Given the description of an element on the screen output the (x, y) to click on. 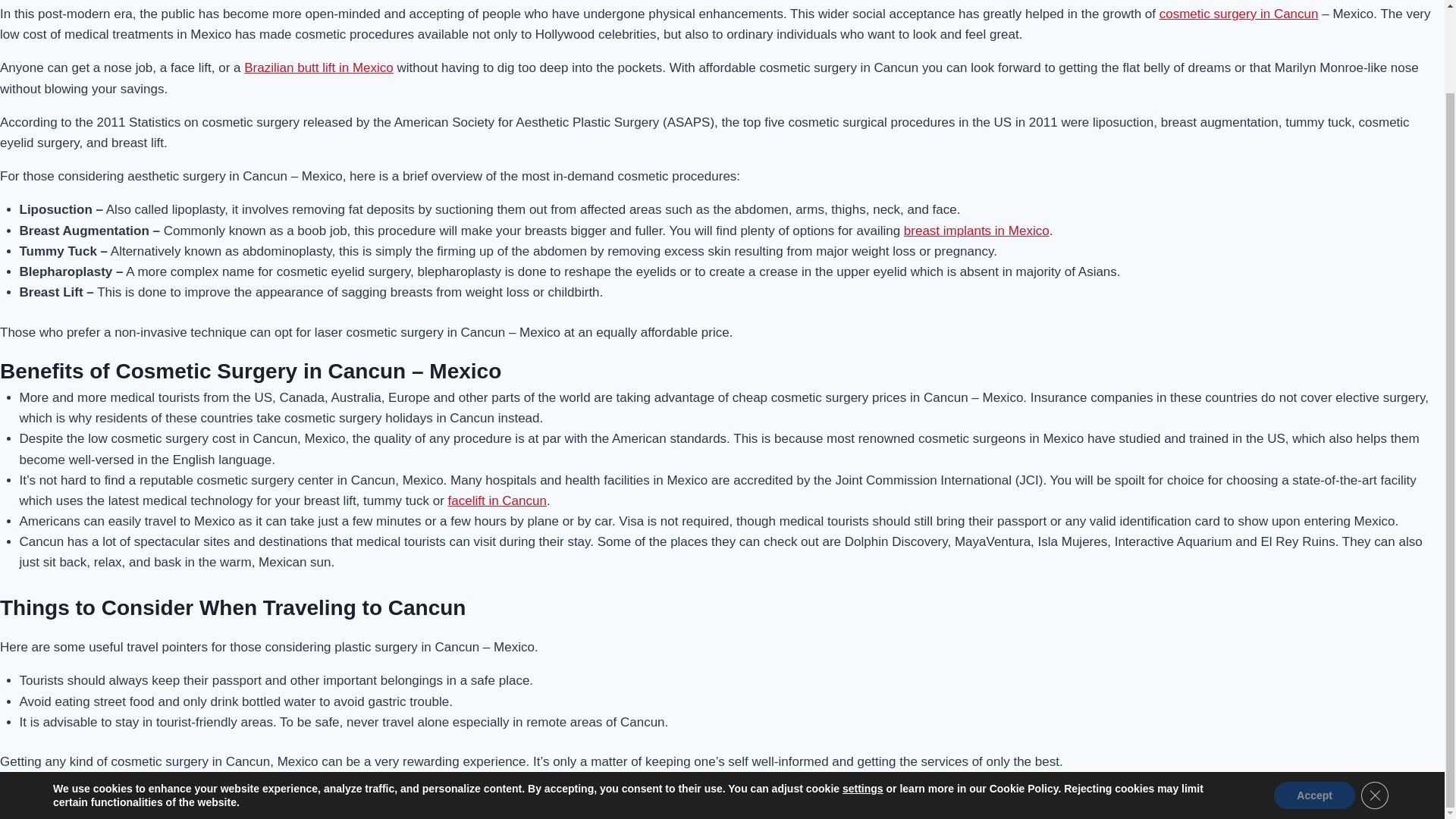
Cosmetic Surgery in Cancun (1238, 13)
Breast Implants in Mexico (976, 229)
breast implants in Mexico (976, 229)
facelift in Cancun (497, 500)
Brazilian butt lift in Mexico (318, 67)
Accept (1314, 700)
Close GDPR Cookie Banner (1375, 700)
Facelift in Cancun (497, 500)
Brazilian Butt Lift in Mexico (318, 67)
cosmetic surgery in Cancun (1238, 13)
